Given the description of an element on the screen output the (x, y) to click on. 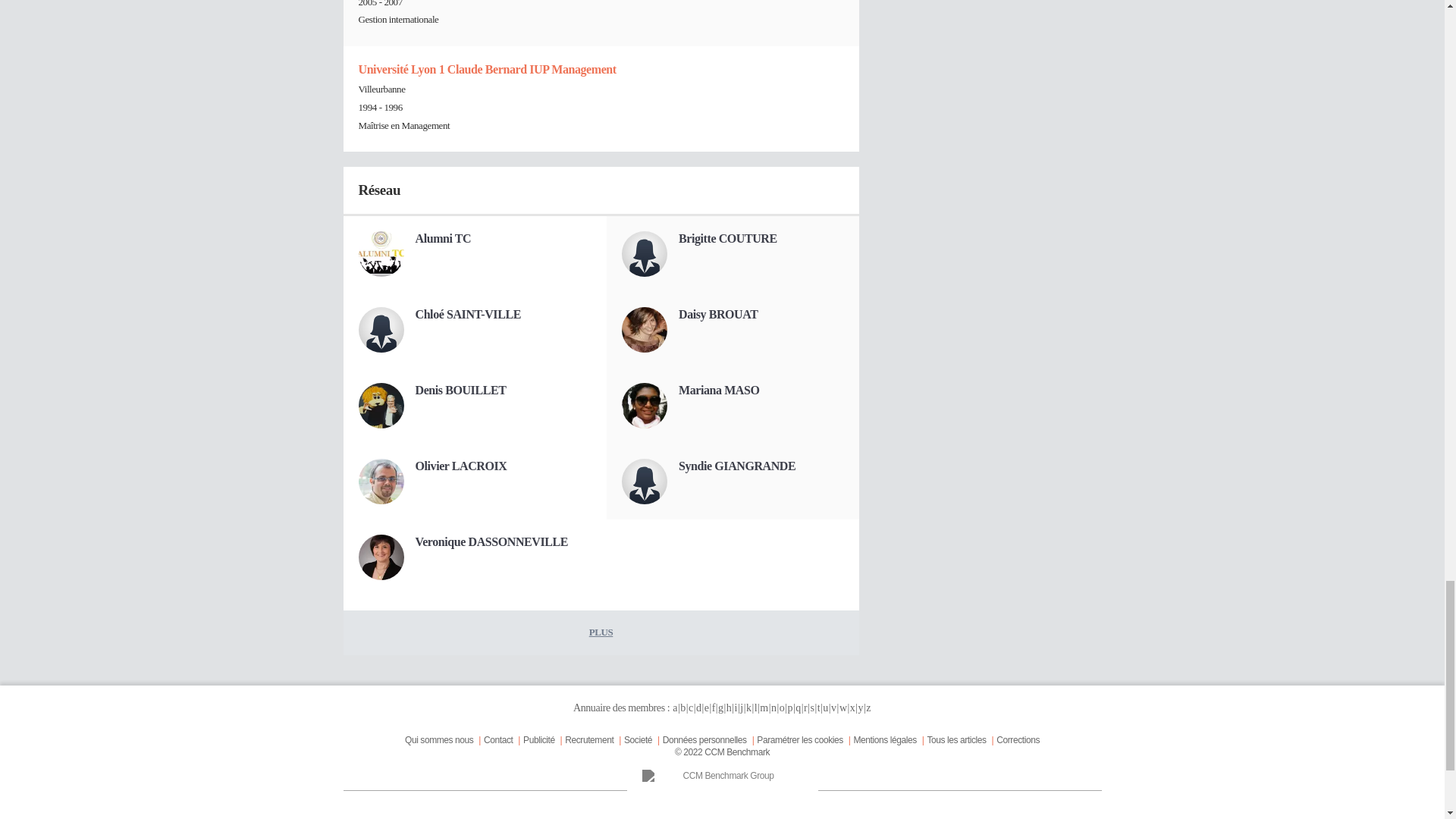
Journal des femmes (437, 817)
Droit-finances.net (1005, 817)
CCM (627, 817)
Linternaute (816, 817)
